Given the description of an element on the screen output the (x, y) to click on. 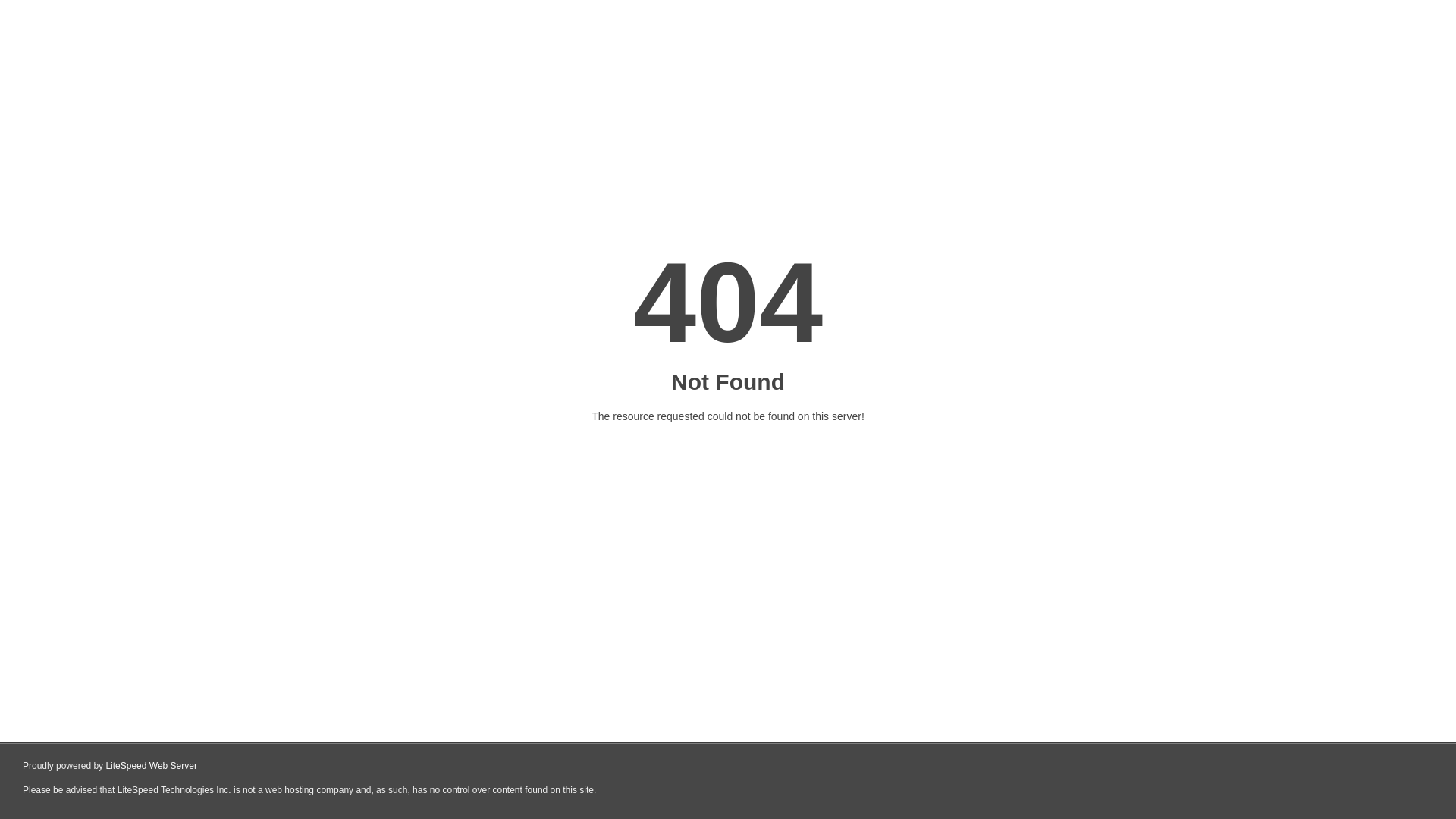
LiteSpeed Web Server Element type: text (151, 765)
